Given the description of an element on the screen output the (x, y) to click on. 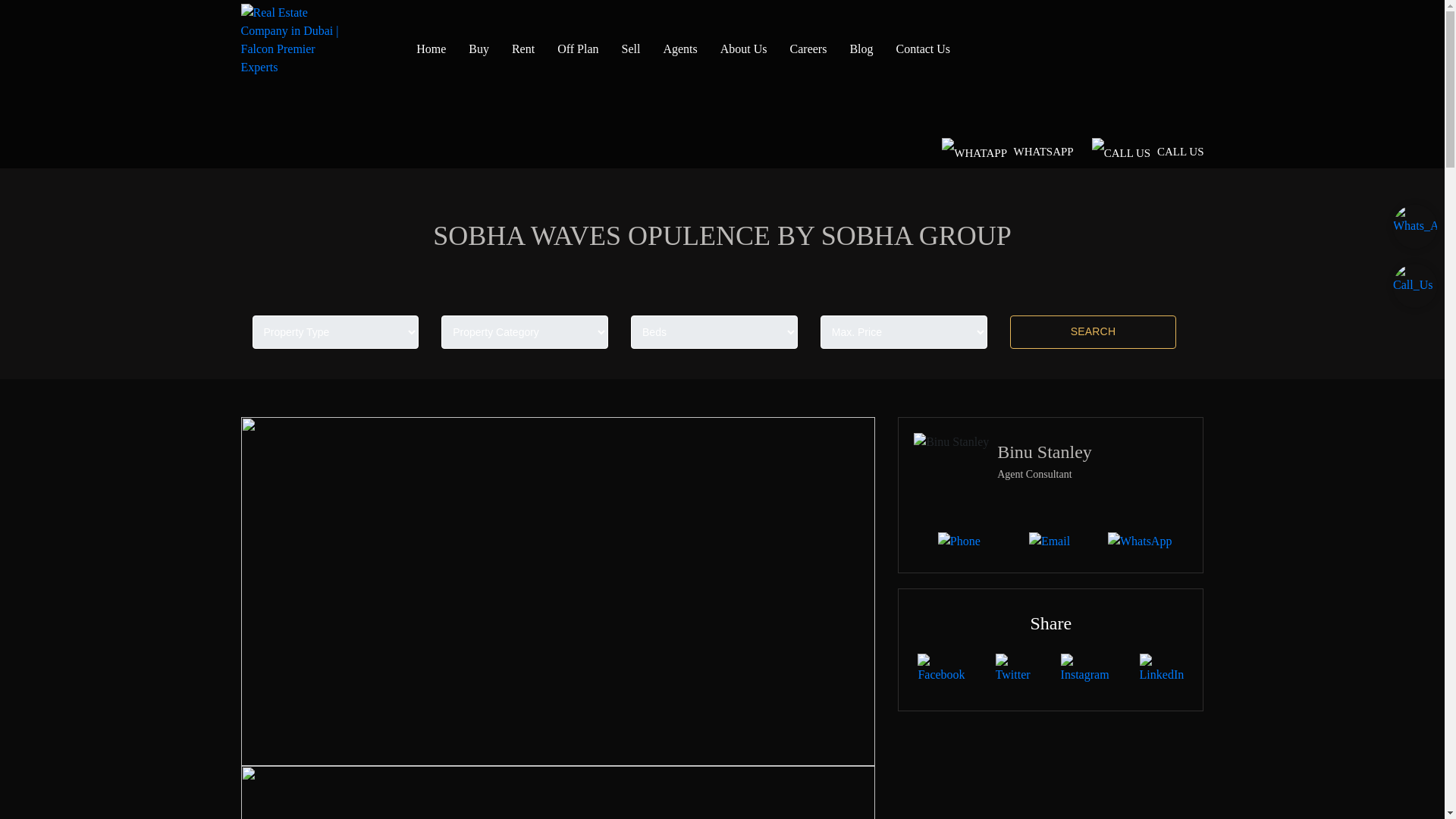
Contact Us (923, 71)
CALL US (1148, 152)
WHATSAPP (1007, 152)
